Given the description of an element on the screen output the (x, y) to click on. 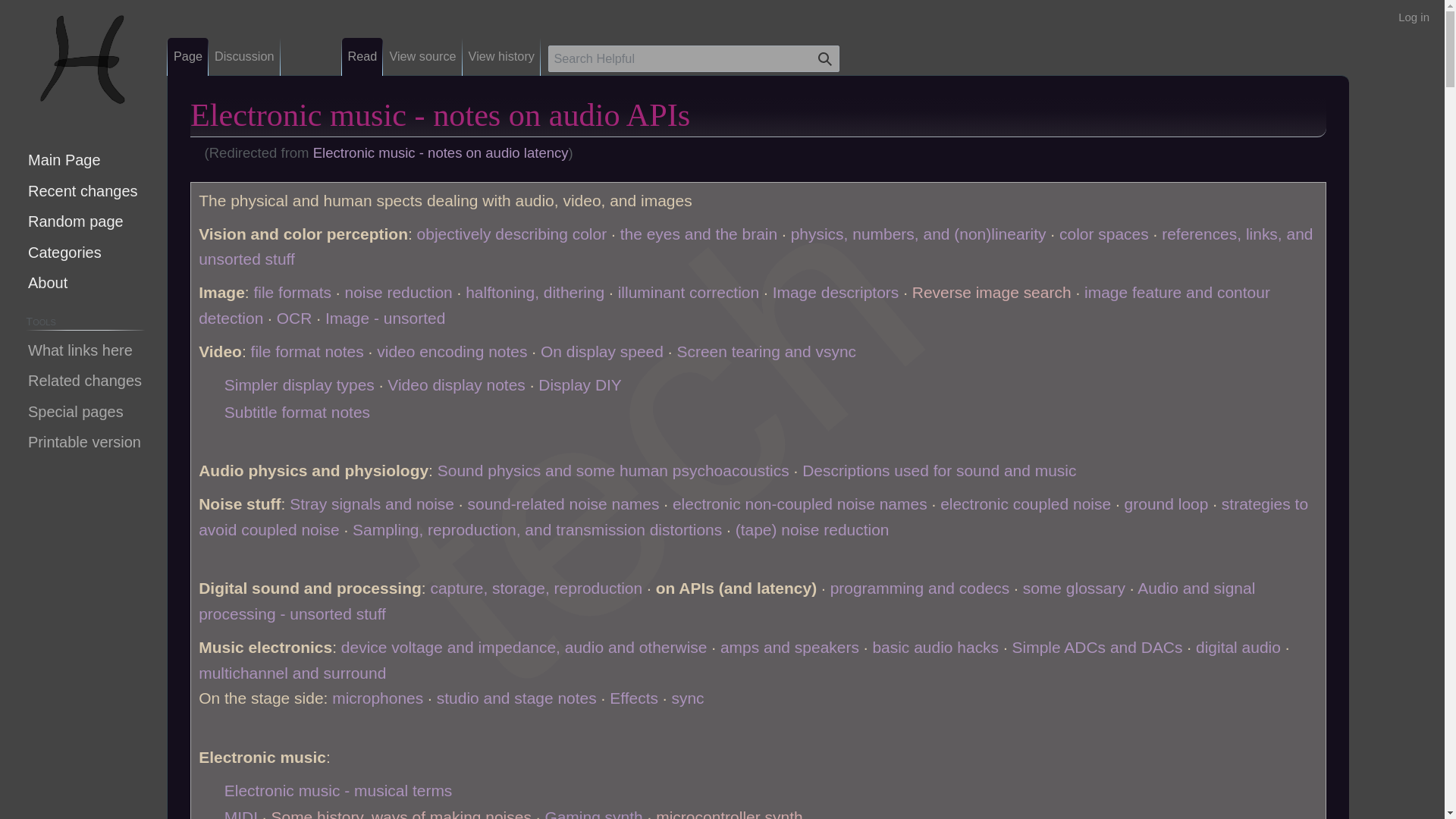
On display speed (601, 351)
capture, storage, reproduction (535, 588)
illuminant correction (687, 292)
noise reduction (397, 292)
Color notes - the eyes and the brain (698, 233)
sound-related noise names (563, 503)
Image file format notes (292, 292)
Image - unsorted (384, 317)
On display speed (601, 351)
Image - unsorted (384, 317)
